Given the description of an element on the screen output the (x, y) to click on. 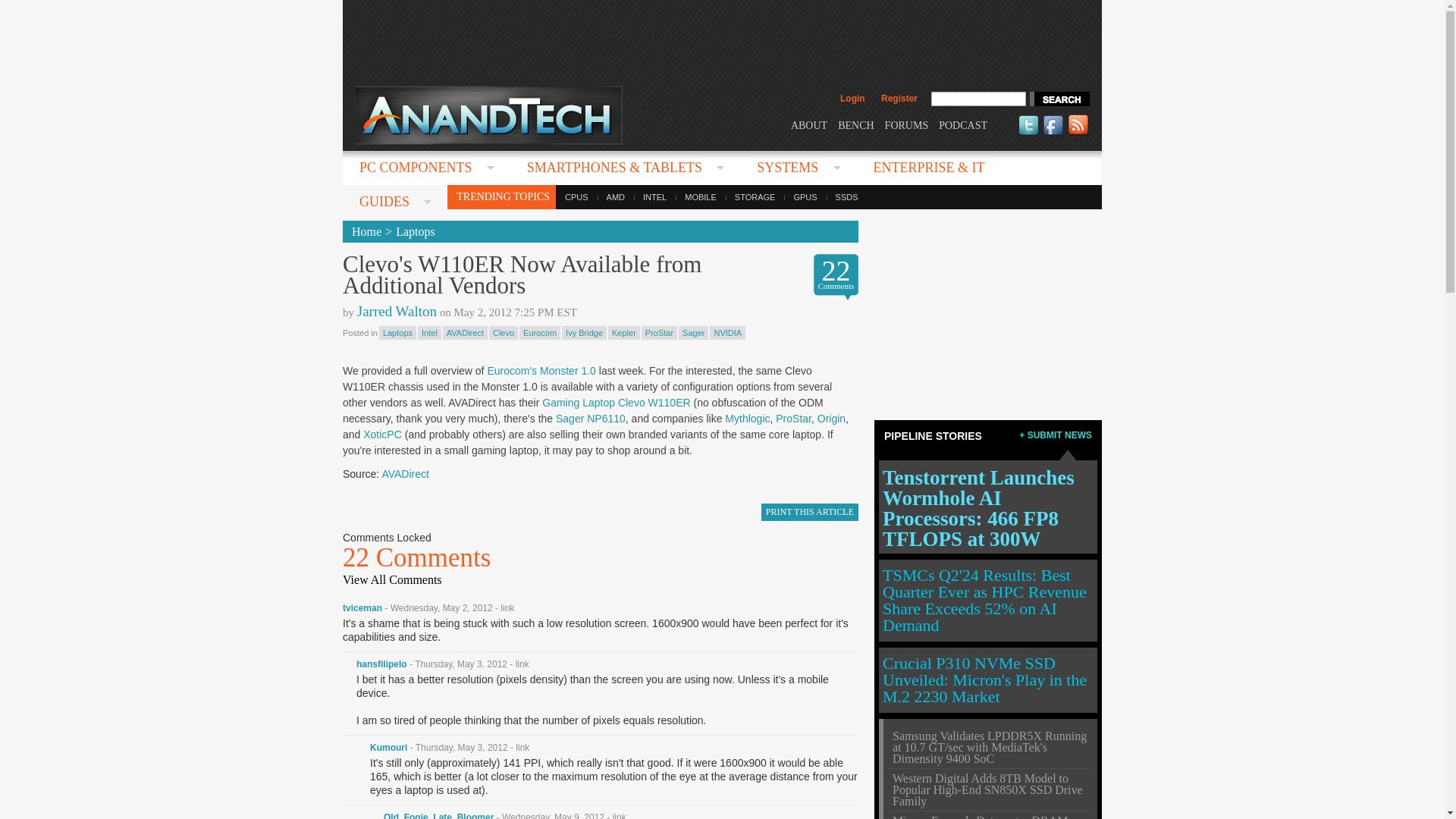
PODCAST (963, 125)
Register (898, 98)
ABOUT (808, 125)
search (1059, 98)
Login (852, 98)
search (1059, 98)
search (1059, 98)
BENCH (855, 125)
FORUMS (906, 125)
